Given the description of an element on the screen output the (x, y) to click on. 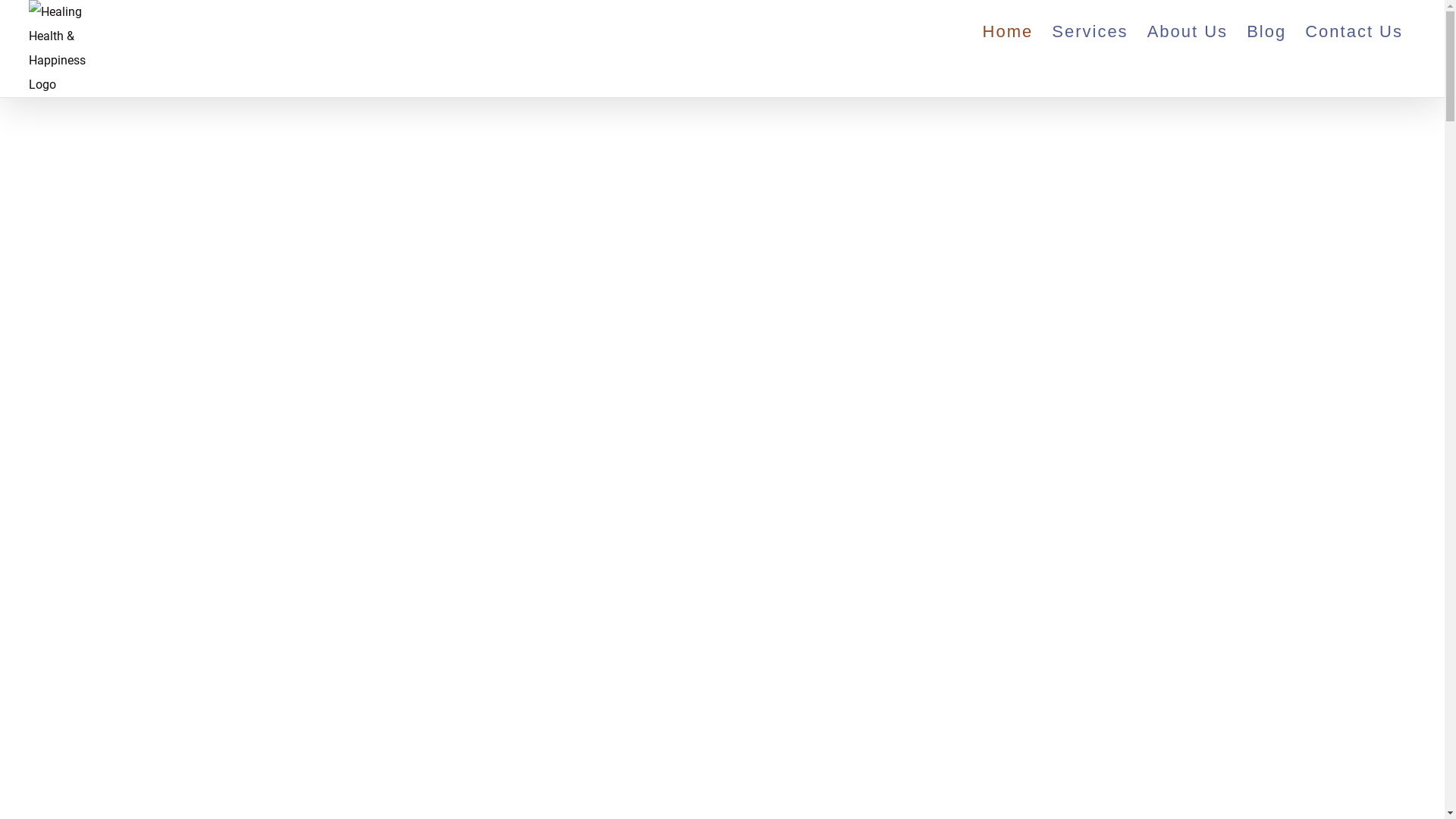
Home Element type: text (1007, 31)
About Us Element type: text (1187, 31)
Services Element type: text (1089, 31)
Blog Element type: text (1266, 31)
Contact Us Element type: text (1353, 31)
